Given the description of an element on the screen output the (x, y) to click on. 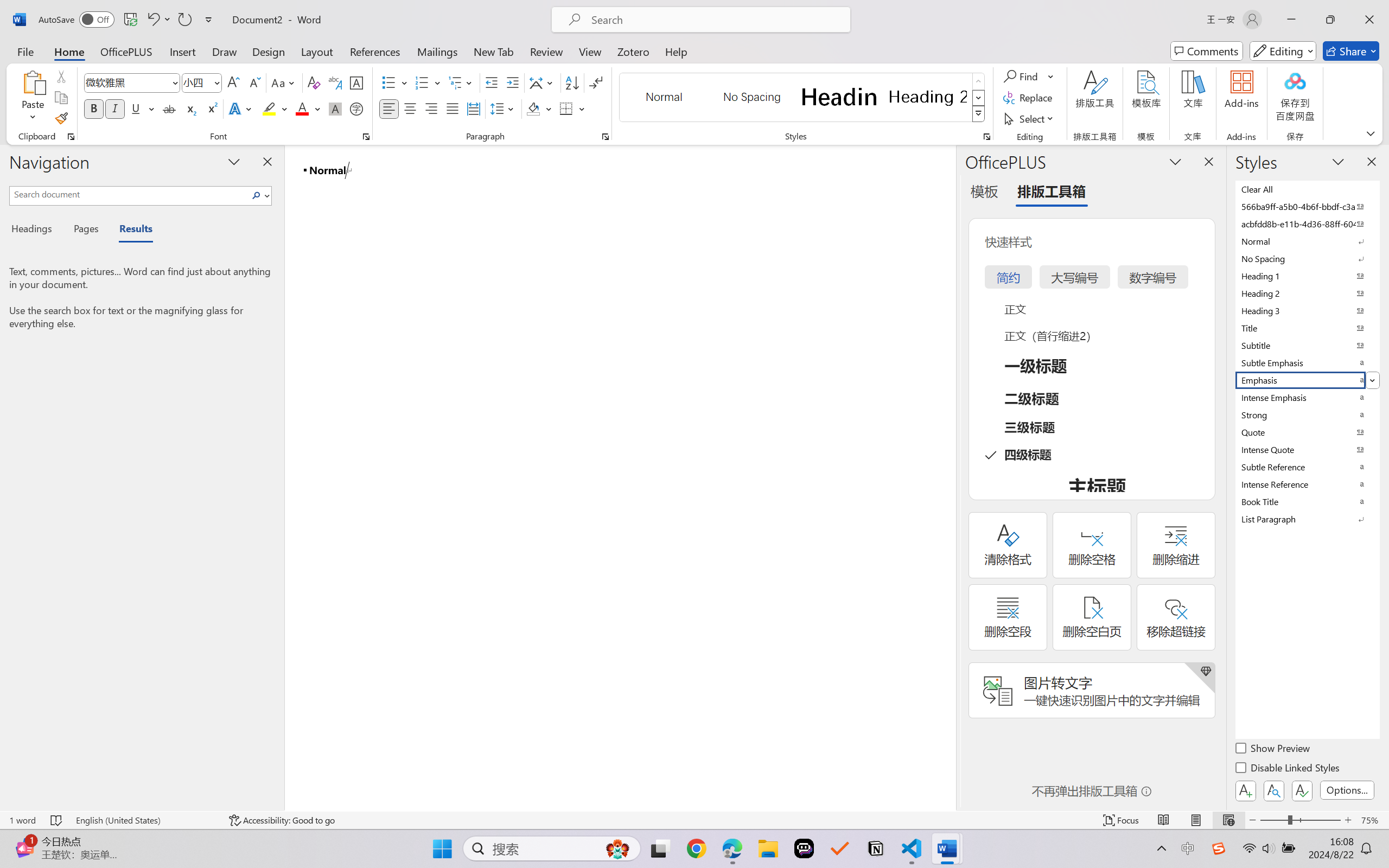
File Tab (24, 51)
Design (268, 51)
Font Size (196, 82)
Microsoft search (715, 19)
Zoom (1300, 819)
Increase Indent (512, 82)
List Paragraph (1306, 518)
Show Preview (1273, 749)
Intense Emphasis (1306, 397)
Row Down (978, 97)
